Given the description of an element on the screen output the (x, y) to click on. 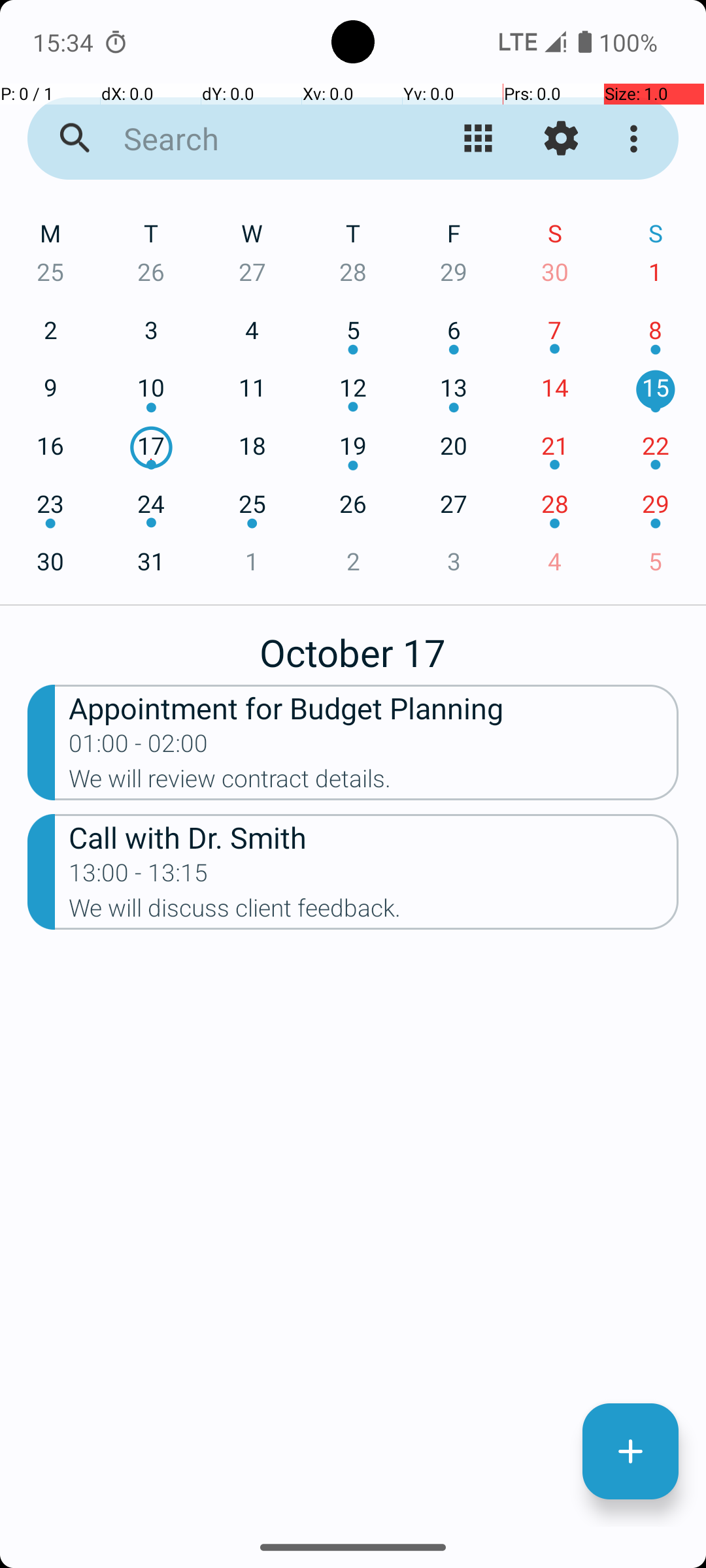
October 17 Element type: android.widget.TextView (352, 644)
01:00 - 02:00 Element type: android.widget.TextView (137, 747)
We will review contract details. Element type: android.widget.TextView (373, 782)
13:00 - 13:15 Element type: android.widget.TextView (137, 876)
We will discuss client feedback. Element type: android.widget.TextView (373, 911)
